Given the description of an element on the screen output the (x, y) to click on. 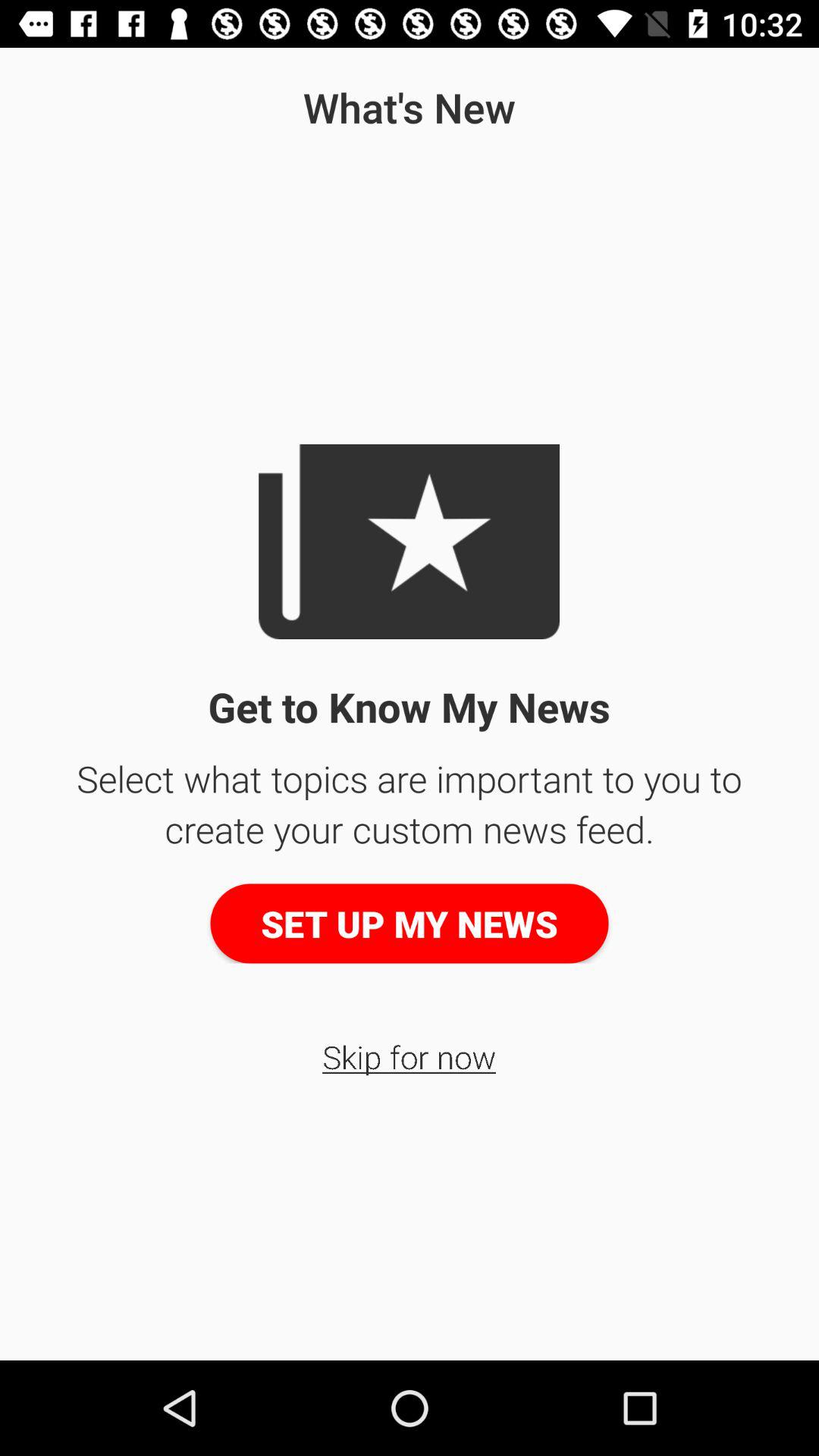
jump to the set up my icon (409, 923)
